Given the description of an element on the screen output the (x, y) to click on. 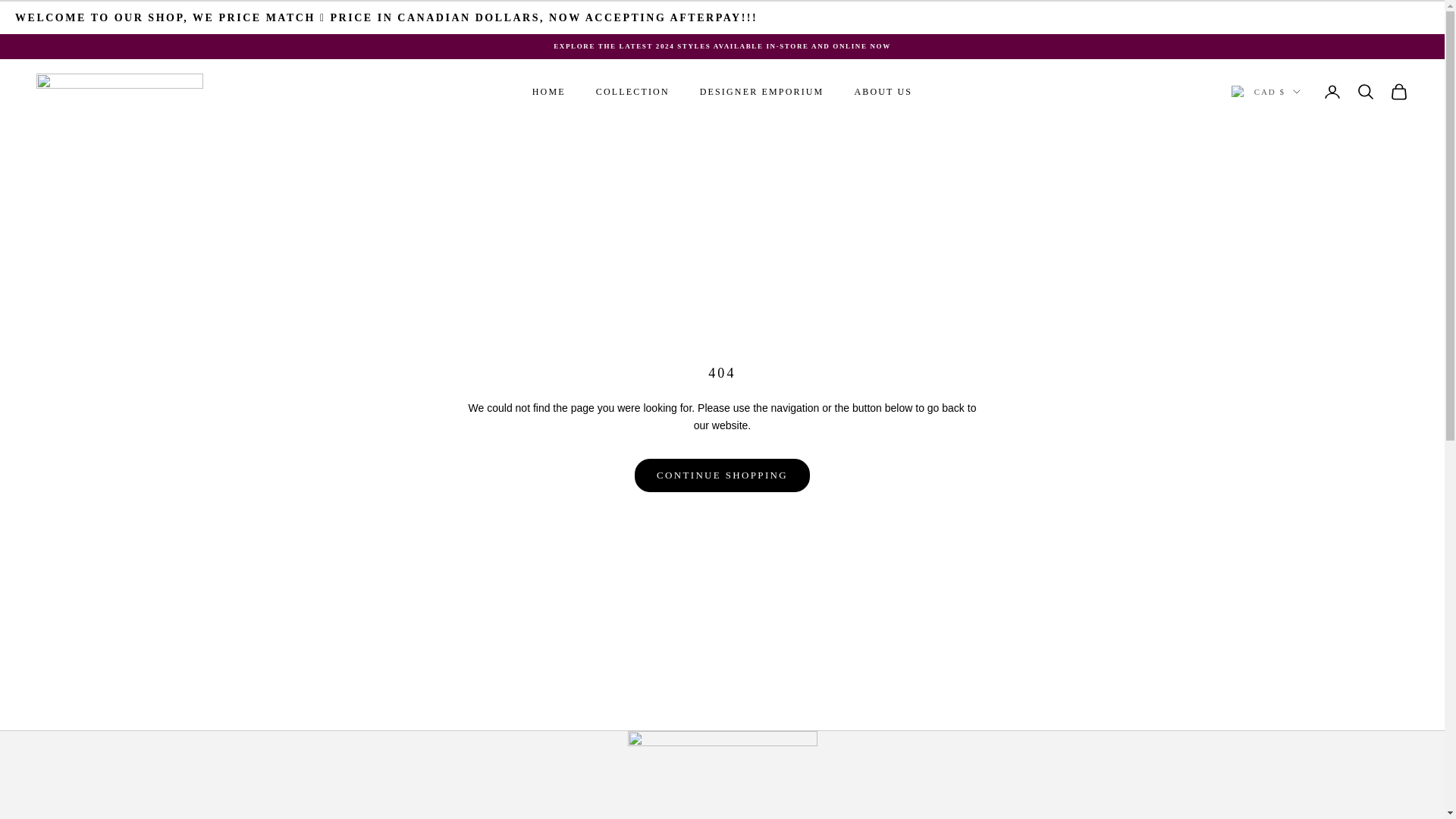
HOME (549, 91)
Elle Couture (119, 91)
ABOUT US (882, 91)
